Given the description of an element on the screen output the (x, y) to click on. 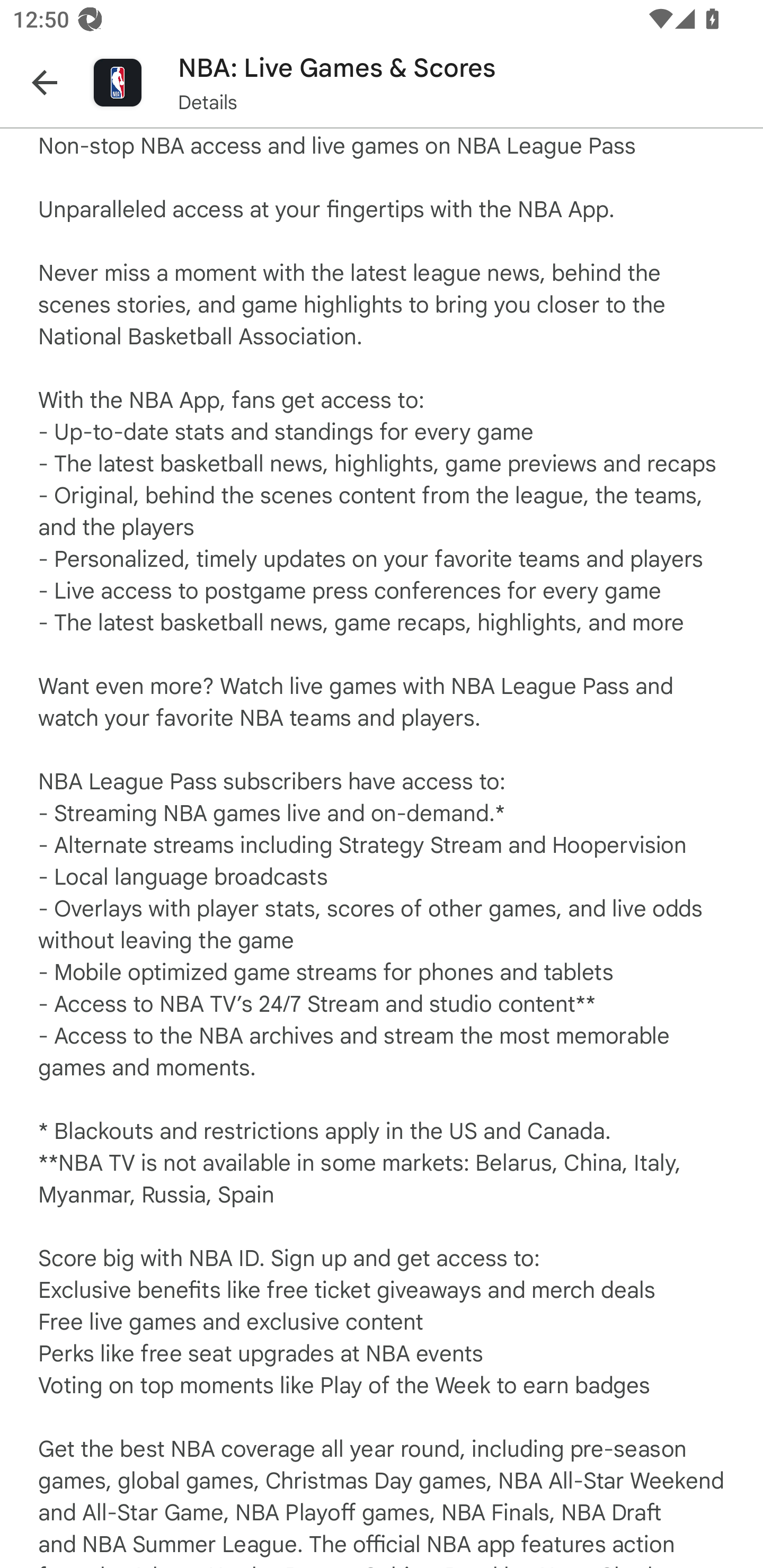
Navigate up (44, 82)
